Given the description of an element on the screen output the (x, y) to click on. 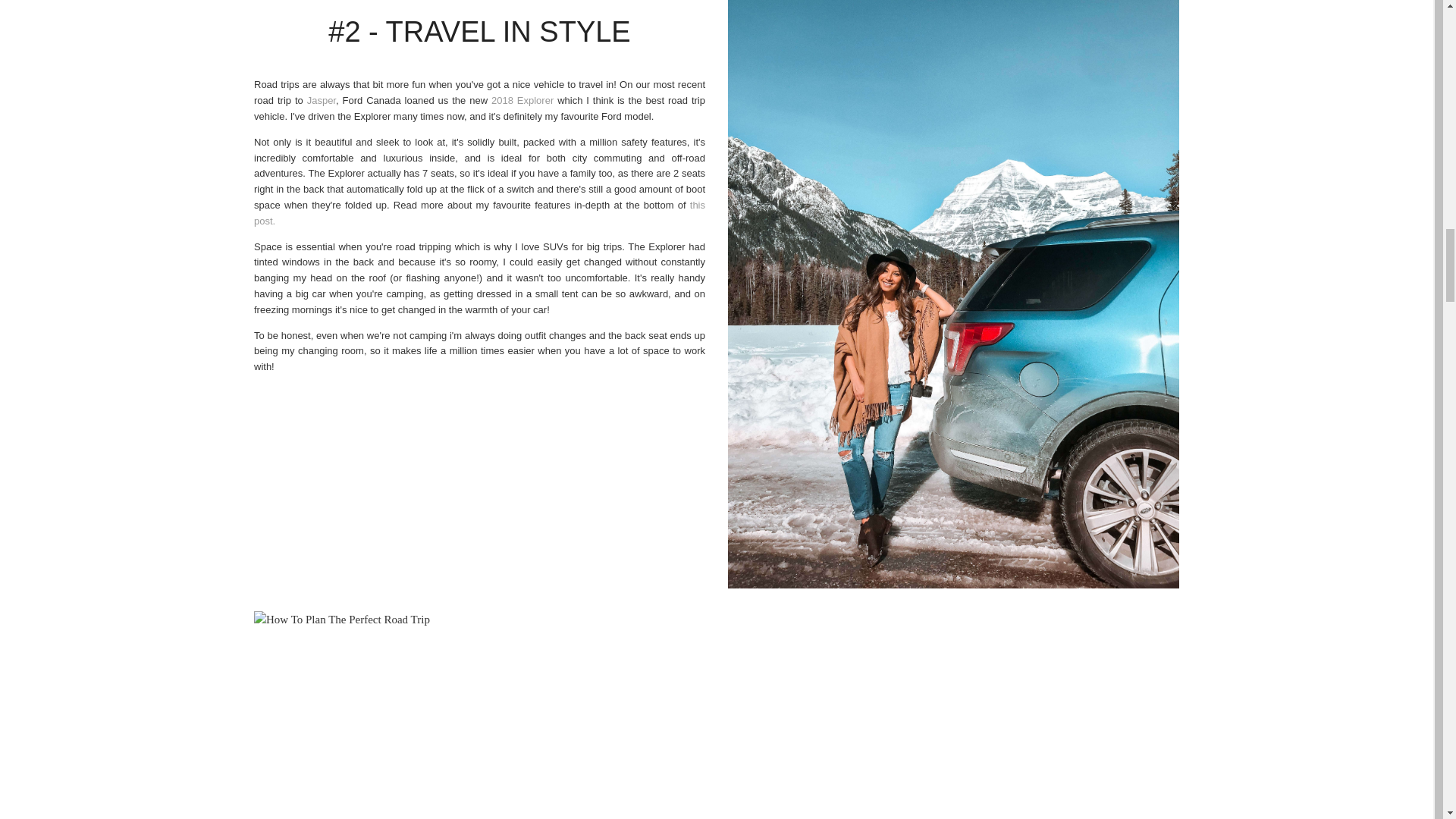
3 Days In Jasper In Winter (478, 212)
3 Days In Jasper In Winter (321, 100)
